Given the description of an element on the screen output the (x, y) to click on. 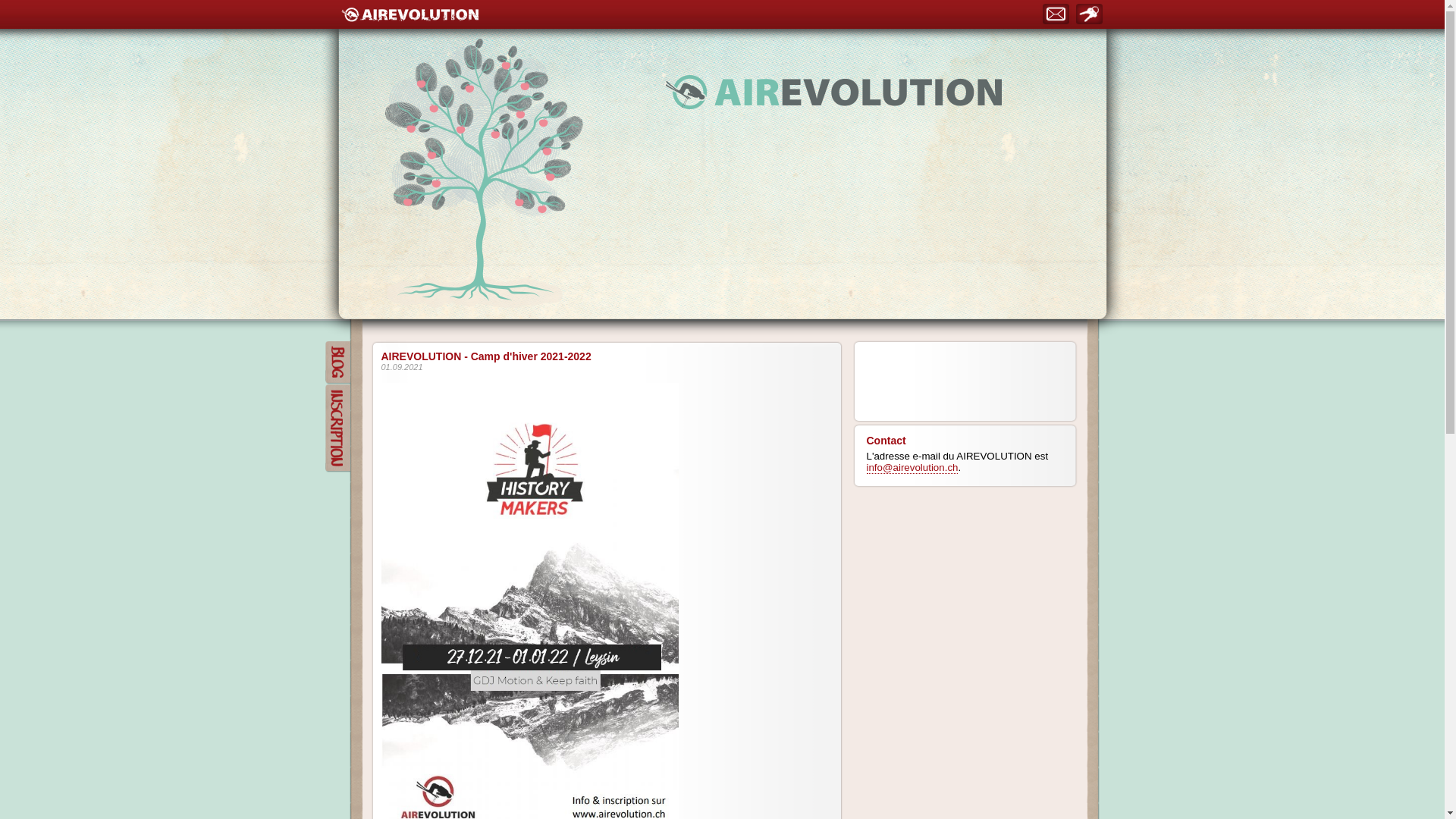
info@airevolution.ch Element type: text (911, 467)
Logo AIREVOLUTION Element type: hover (409, 14)
